Given the description of an element on the screen output the (x, y) to click on. 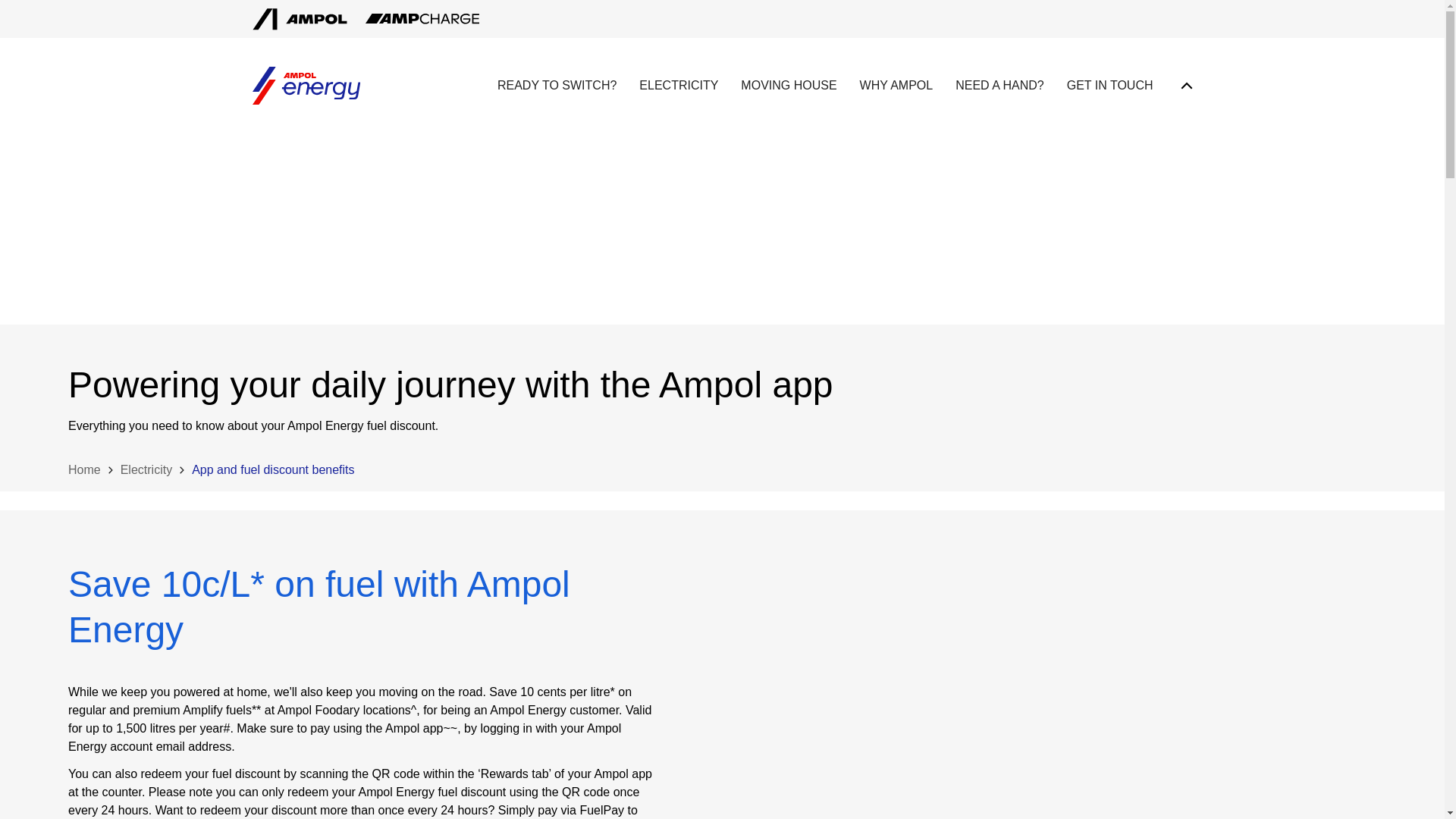
NEED A HAND? (999, 85)
READY TO SWITCH? (556, 85)
GET IN TOUCH (1110, 85)
ELECTRICITY (678, 85)
WHY AMPOL (896, 85)
Electricity (145, 469)
MOVING HOUSE (788, 85)
Home (84, 469)
